Given the description of an element on the screen output the (x, y) to click on. 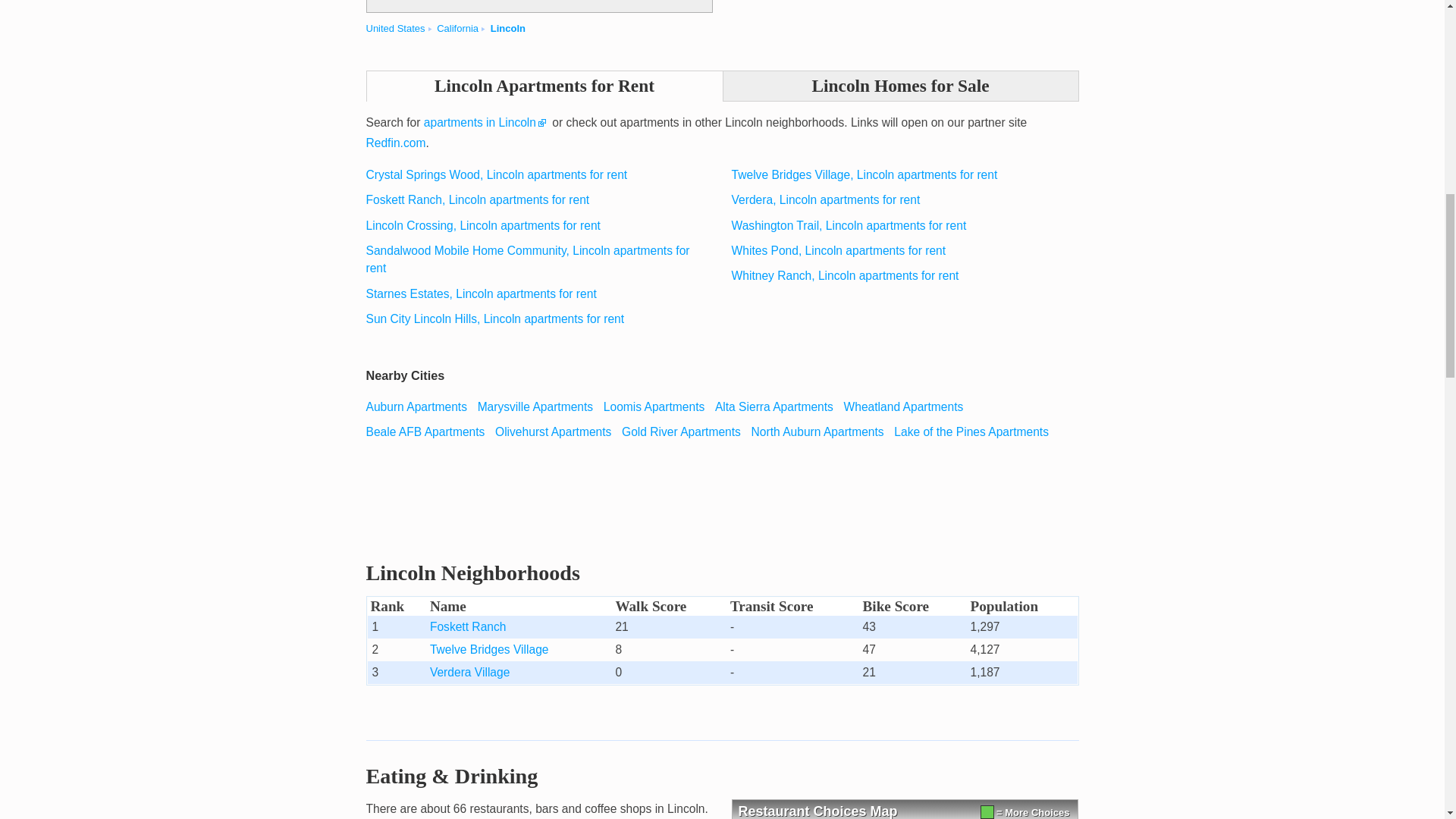
Lincoln Crossing, Lincoln apartments for rent (482, 225)
Redfin.com (395, 142)
Cities in California state (457, 28)
California (457, 28)
Lincoln Apartments for Rent (543, 85)
Twelve Bridges Village, Lincoln apartments for rent (864, 174)
Lincoln (507, 28)
Starnes Estates, Lincoln apartments for rent (480, 293)
Crystal Springs Wood, Lincoln apartments for rent (496, 174)
United States Walkability Rankings (395, 28)
Foskett Ranch, Lincoln apartments for rent (477, 199)
Sun City Lincoln Hills, Lincoln apartments for rent (494, 318)
United States (395, 28)
Verdera, Lincoln apartments for rent (826, 199)
